Given the description of an element on the screen output the (x, y) to click on. 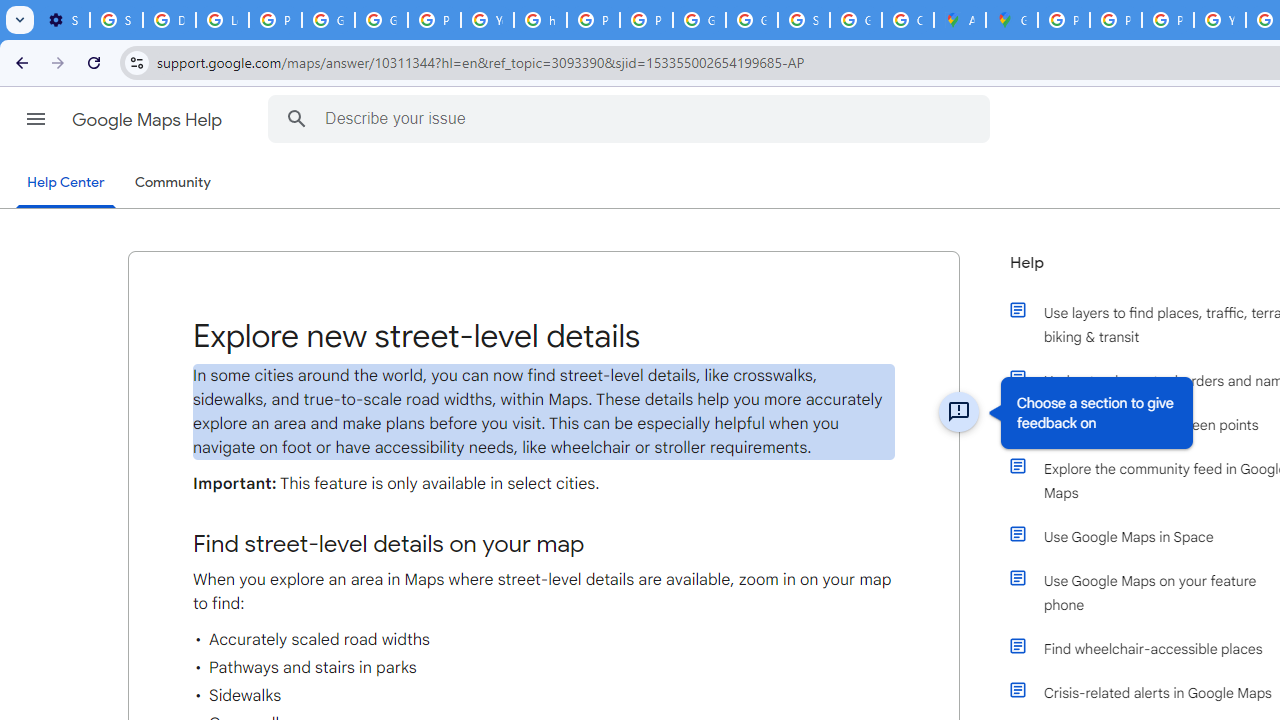
Create your Google Account (907, 20)
Search Help Center (297, 118)
Sign in - Google Accounts (803, 20)
Google Maps Help (148, 119)
Google Maps (1011, 20)
Pathways and stairs in parks (543, 667)
Community (171, 183)
